Given the description of an element on the screen output the (x, y) to click on. 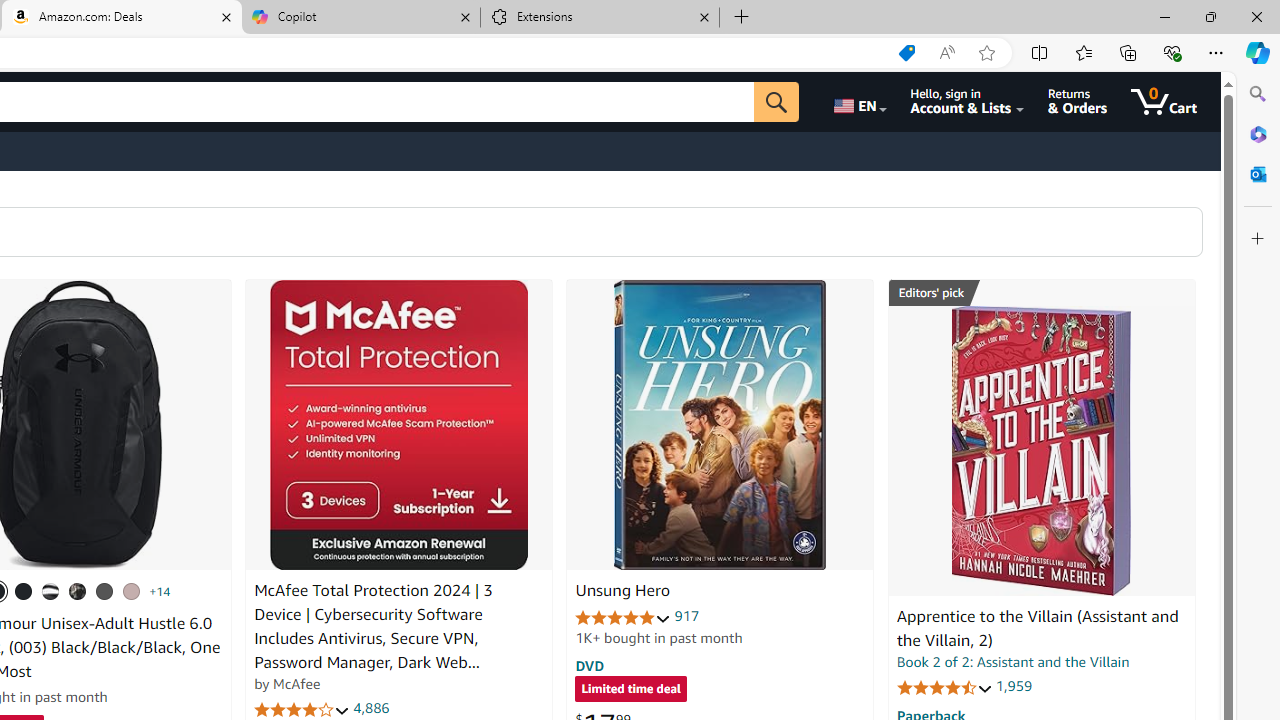
4,886 (371, 708)
Go (776, 101)
Editors' pick Best Science Fiction & Fantasy (1041, 293)
4.1 out of 5 stars (301, 709)
Apprentice to the Villain (Assistant and the Villain, 2) (1041, 451)
1,959 (1013, 686)
Extensions (600, 17)
0 items in cart (1163, 101)
(001) Black / Black / Metallic Gold (24, 591)
